Given the description of an element on the screen output the (x, y) to click on. 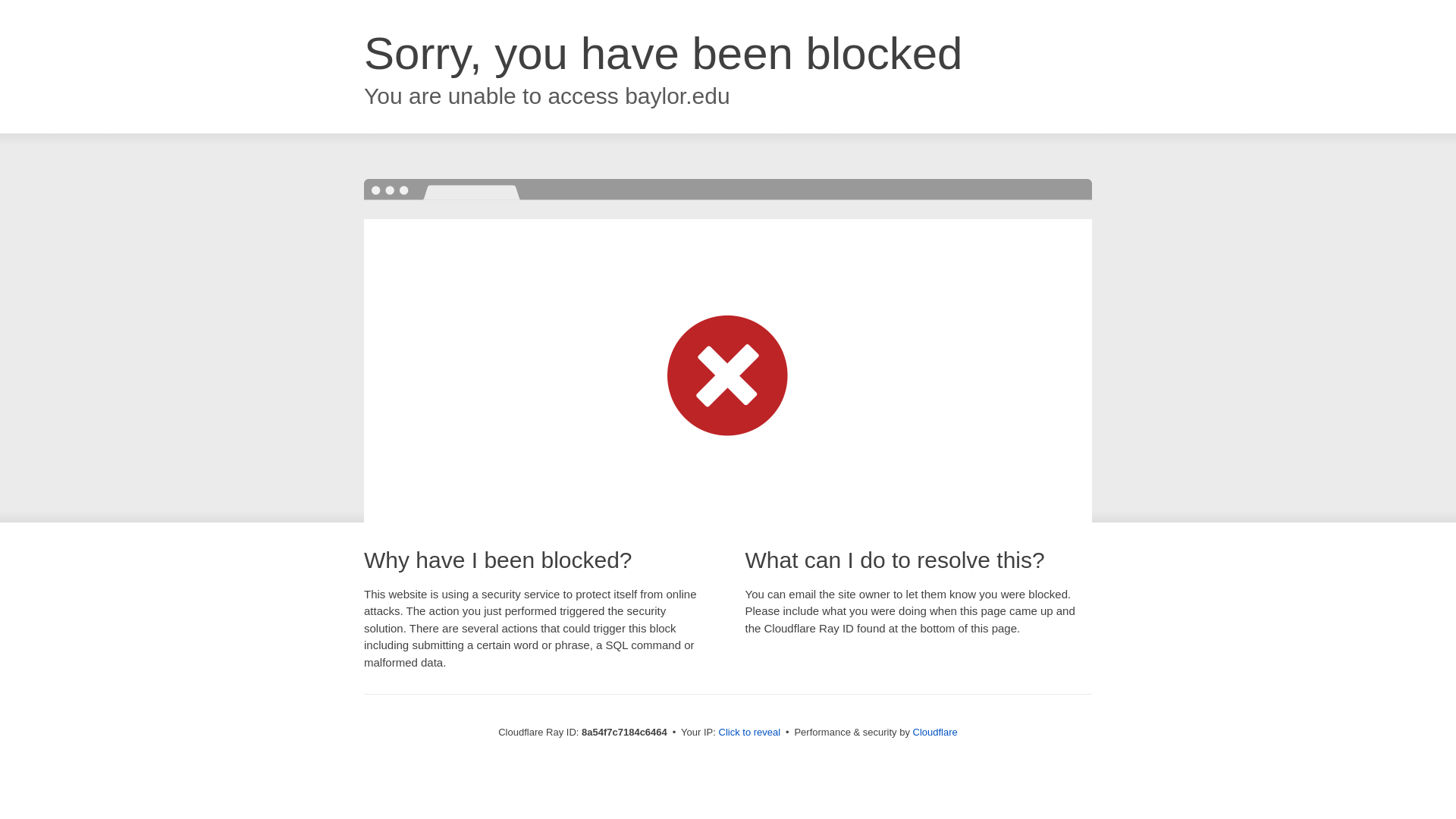
Cloudflare (935, 731)
Click to reveal (749, 732)
